Given the description of an element on the screen output the (x, y) to click on. 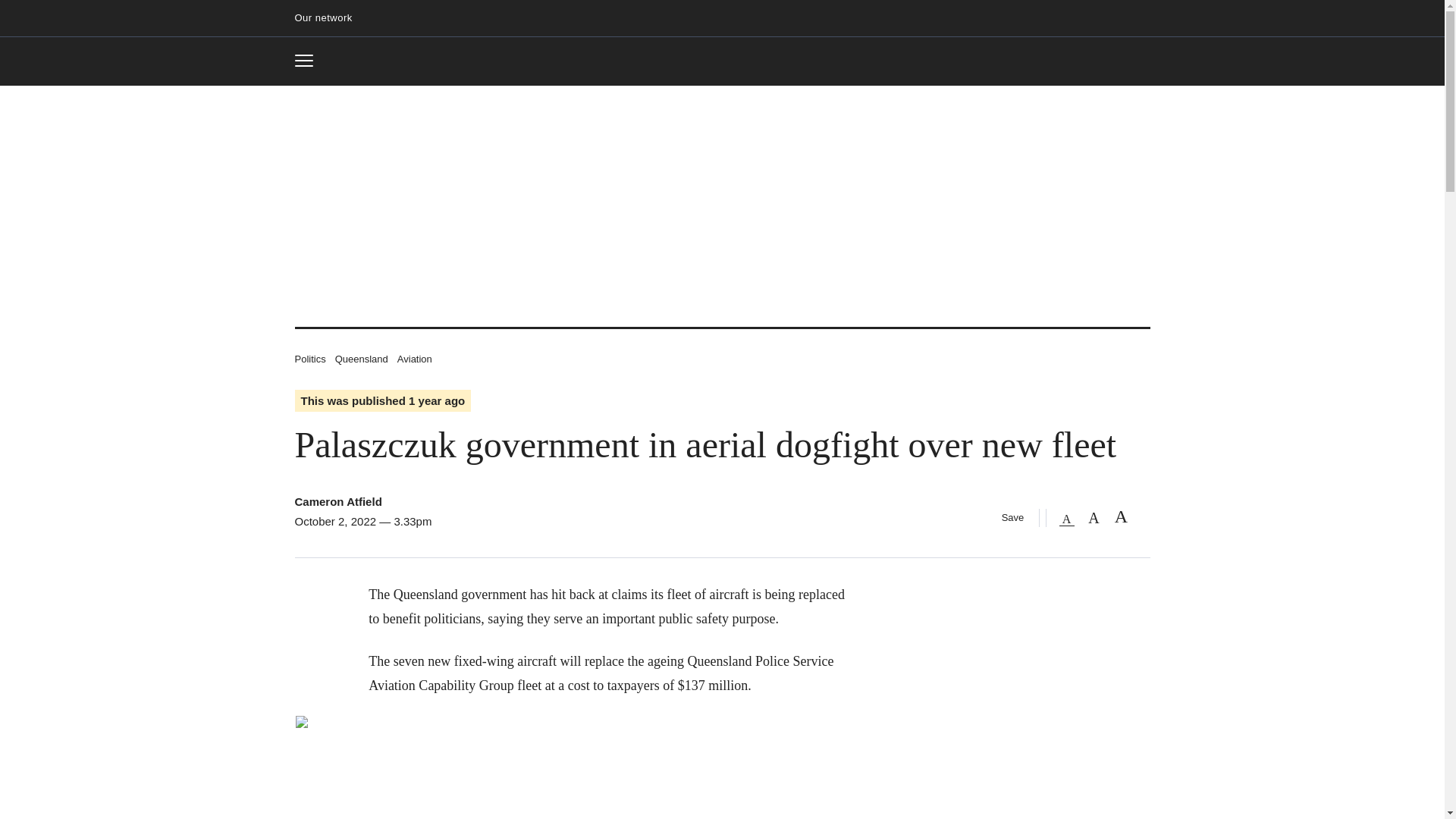
Politics (309, 358)
Queensland (361, 358)
Aviation (309, 60)
Articles by Cameron Atfield (414, 358)
Our network (337, 501)
Brisbane Times (329, 17)
